Given the description of an element on the screen output the (x, y) to click on. 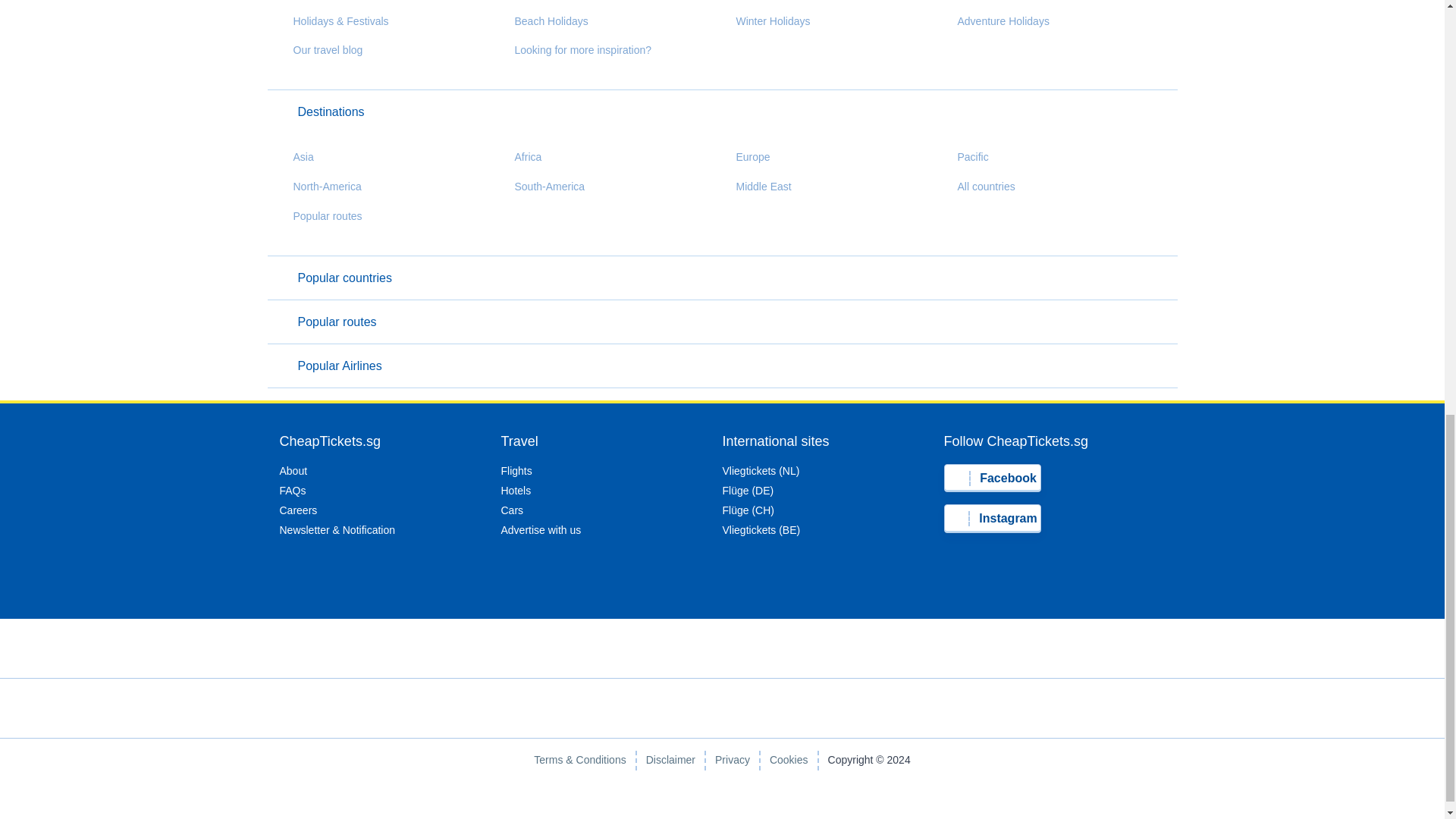
Cars (511, 510)
Careers (298, 510)
Adventure Holidays (995, 21)
About (293, 470)
All countries (978, 187)
Pacific (965, 156)
Africa (520, 156)
Flights (515, 470)
Budget Friendly Cities (1002, 2)
Middle East (756, 187)
